Given the description of an element on the screen output the (x, y) to click on. 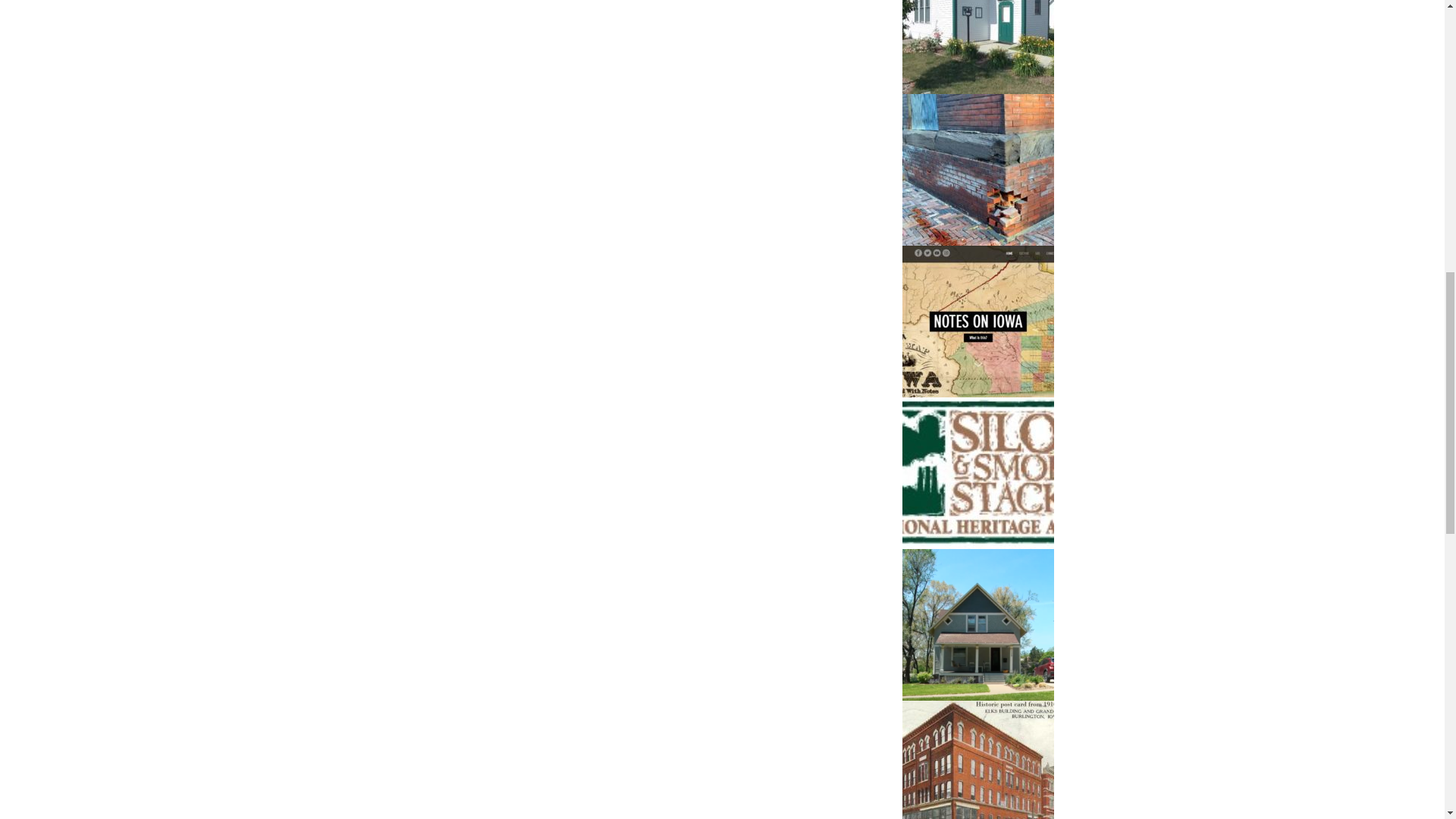
RFP for Redevelopment of Burlington Elks Building (978, 760)
2021 Preservation at Its Best Nomination Form (978, 624)
Notes on Iowa (978, 321)
